Given the description of an element on the screen output the (x, y) to click on. 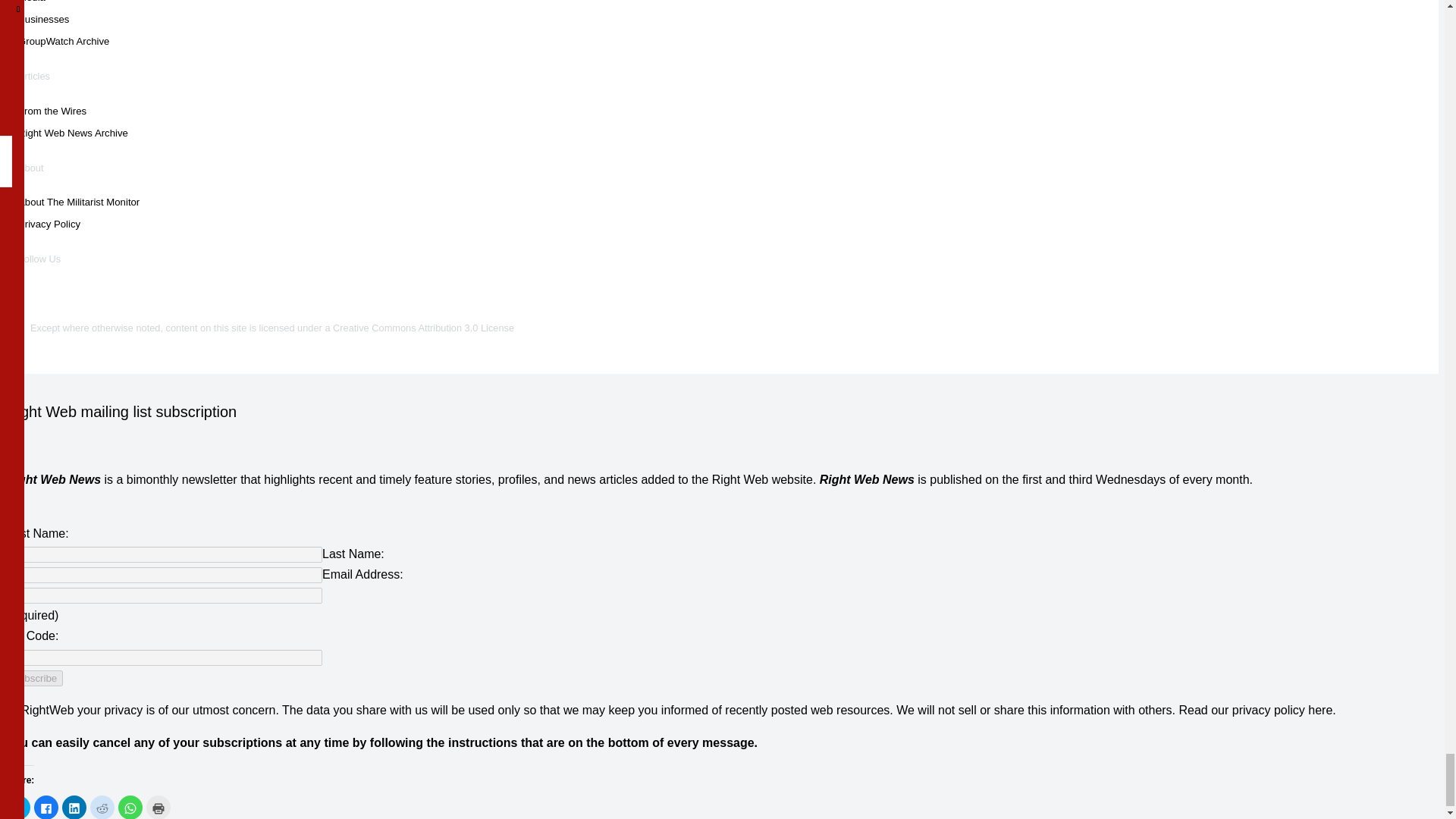
Subscribe (33, 678)
